Given the description of an element on the screen output the (x, y) to click on. 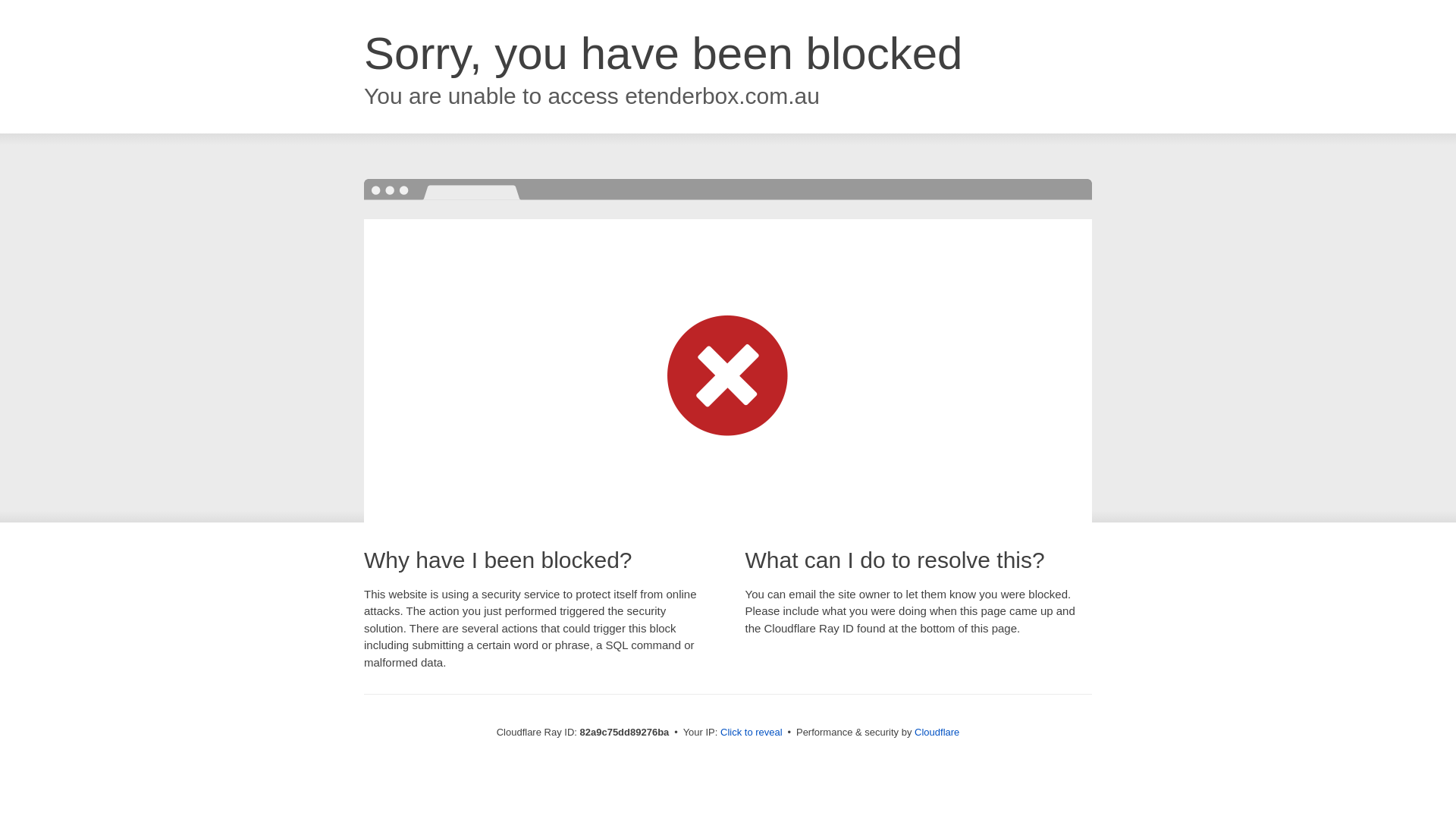
Cloudflare Element type: text (936, 731)
Click to reveal Element type: text (751, 732)
